Given the description of an element on the screen output the (x, y) to click on. 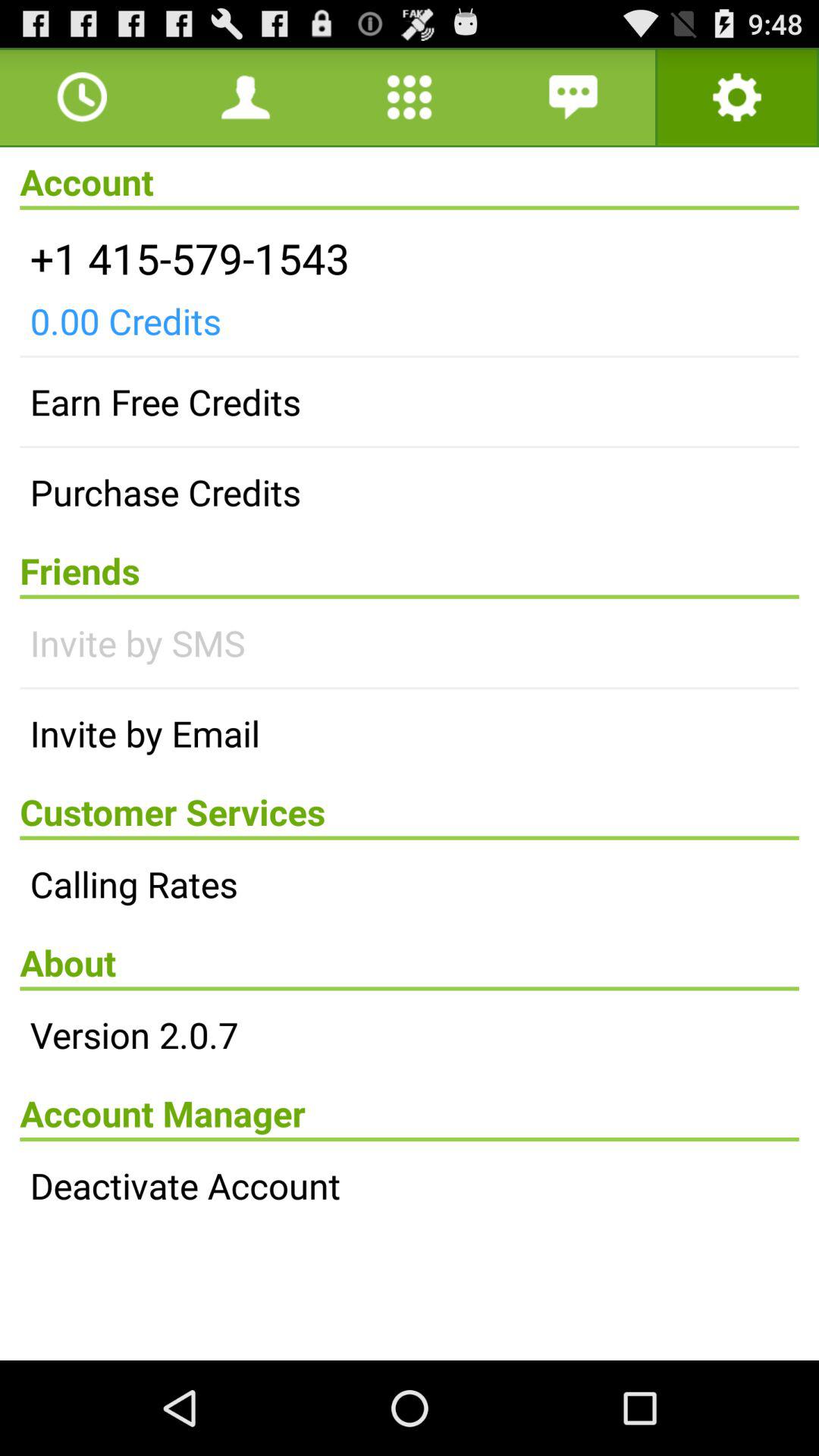
jump until earn free credits (409, 401)
